Given the description of an element on the screen output the (x, y) to click on. 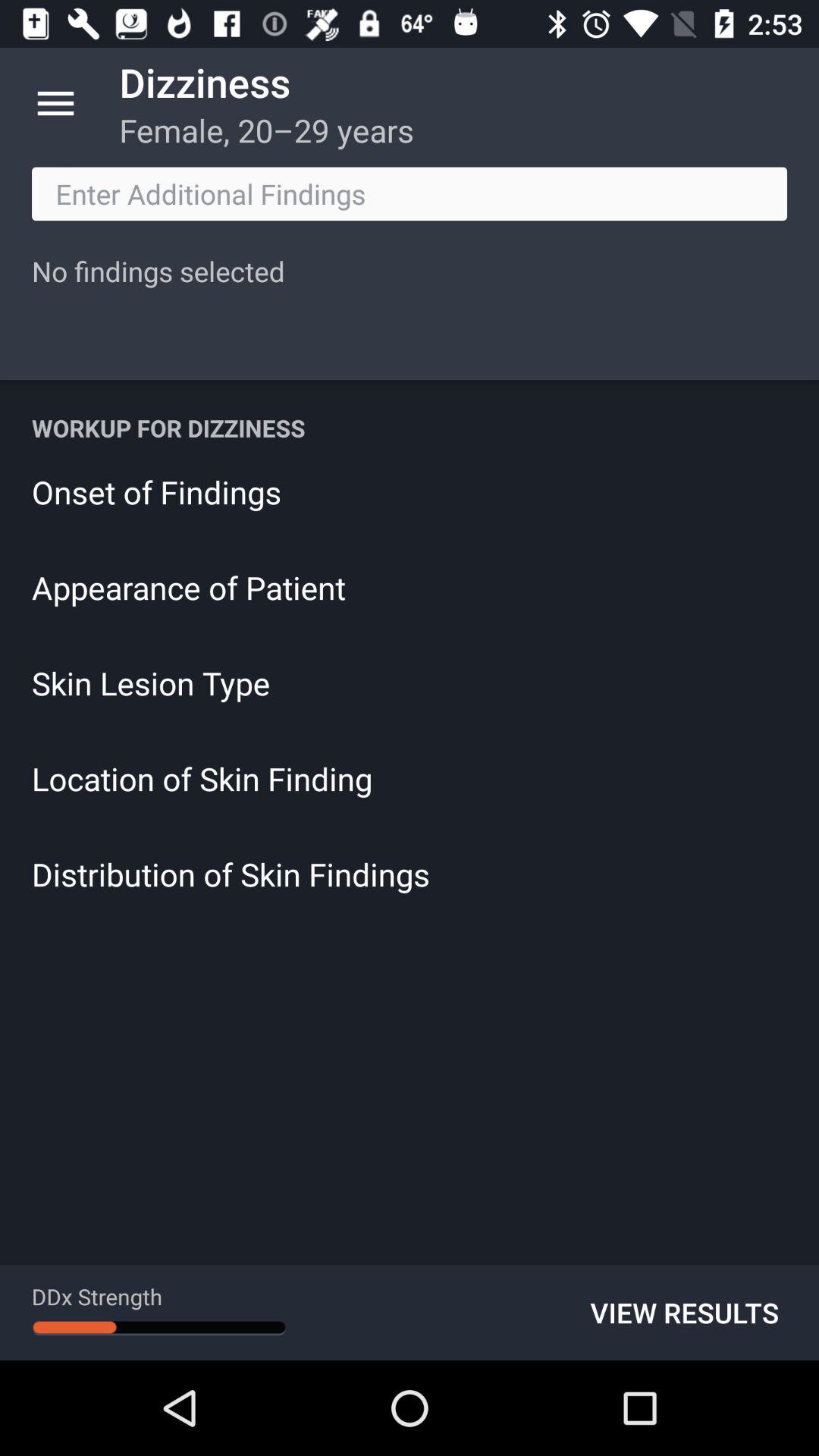
turn off item to the left of dizziness item (55, 103)
